Given the description of an element on the screen output the (x, y) to click on. 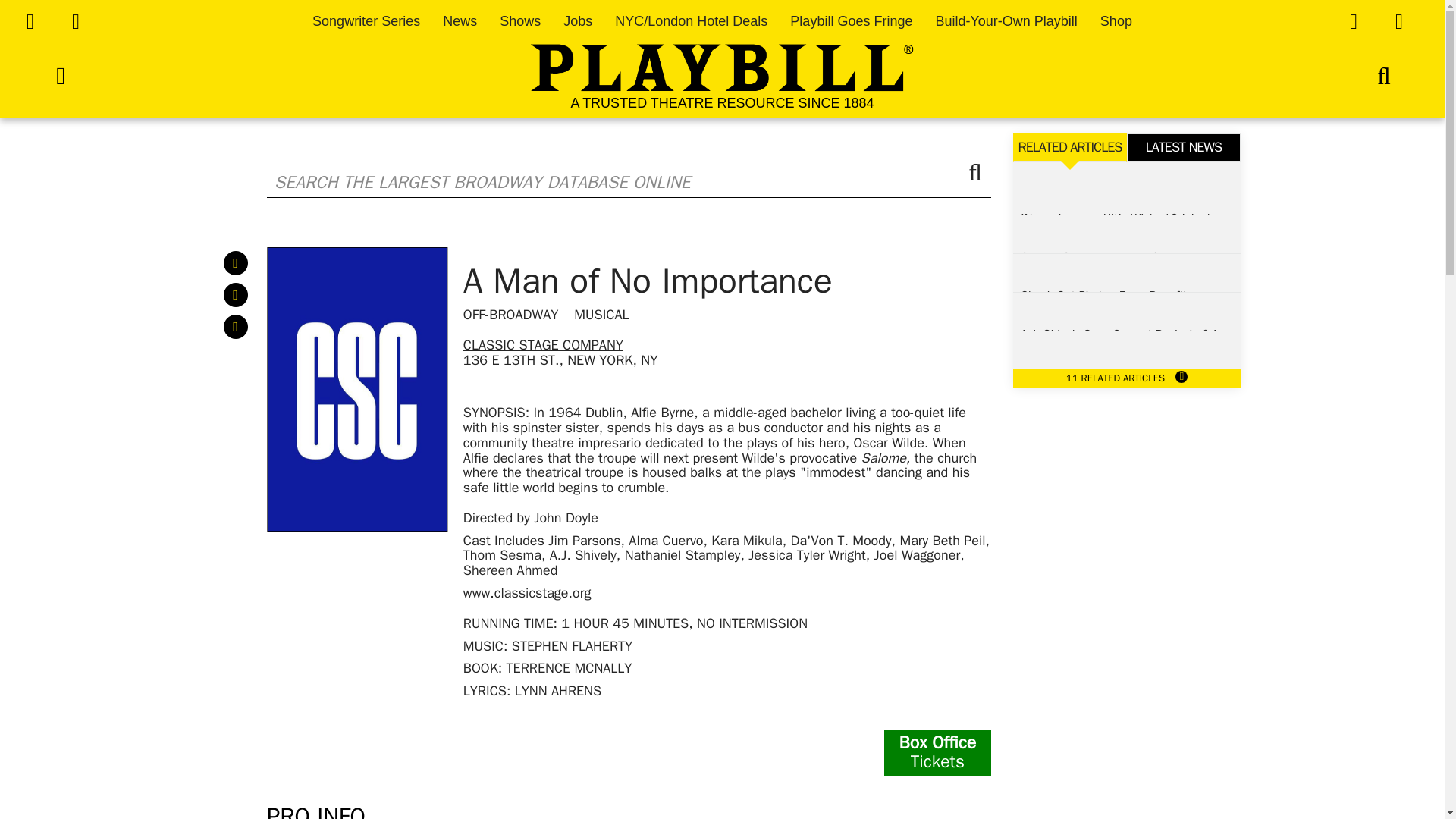
Jobs (577, 20)
Shop (1116, 20)
Shows (519, 20)
News (459, 20)
Search (628, 191)
Playbill Goes Fringe (851, 20)
Songwriter Series (366, 20)
Build-Your-Own Playbill (1005, 20)
